Given the description of an element on the screen output the (x, y) to click on. 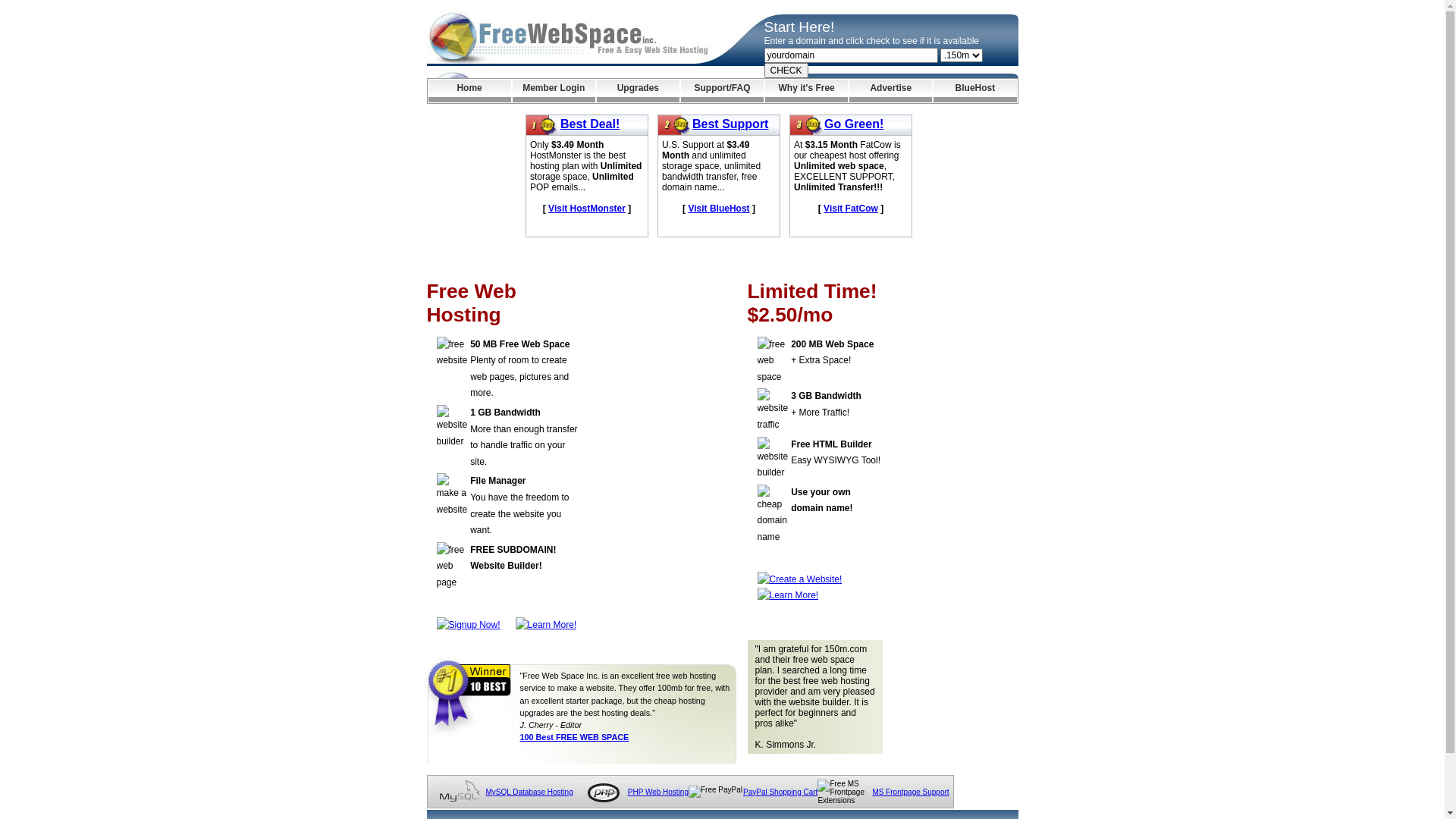
Why it's Free Element type: text (806, 90)
Support/FAQ Element type: text (721, 90)
CHECK Element type: text (786, 70)
MS Frontpage Support Element type: text (910, 791)
PHP Web Hosting Element type: text (657, 791)
Advertise Element type: text (890, 90)
100 Best FREE WEB SPACE Element type: text (574, 736)
MySQL Database Hosting Element type: text (528, 791)
PayPal Shopping Cart Element type: text (780, 791)
BlueHost Element type: text (974, 90)
Home Element type: text (468, 90)
Upgrades Element type: text (637, 90)
Member Login Element type: text (553, 90)
